Given the description of an element on the screen output the (x, y) to click on. 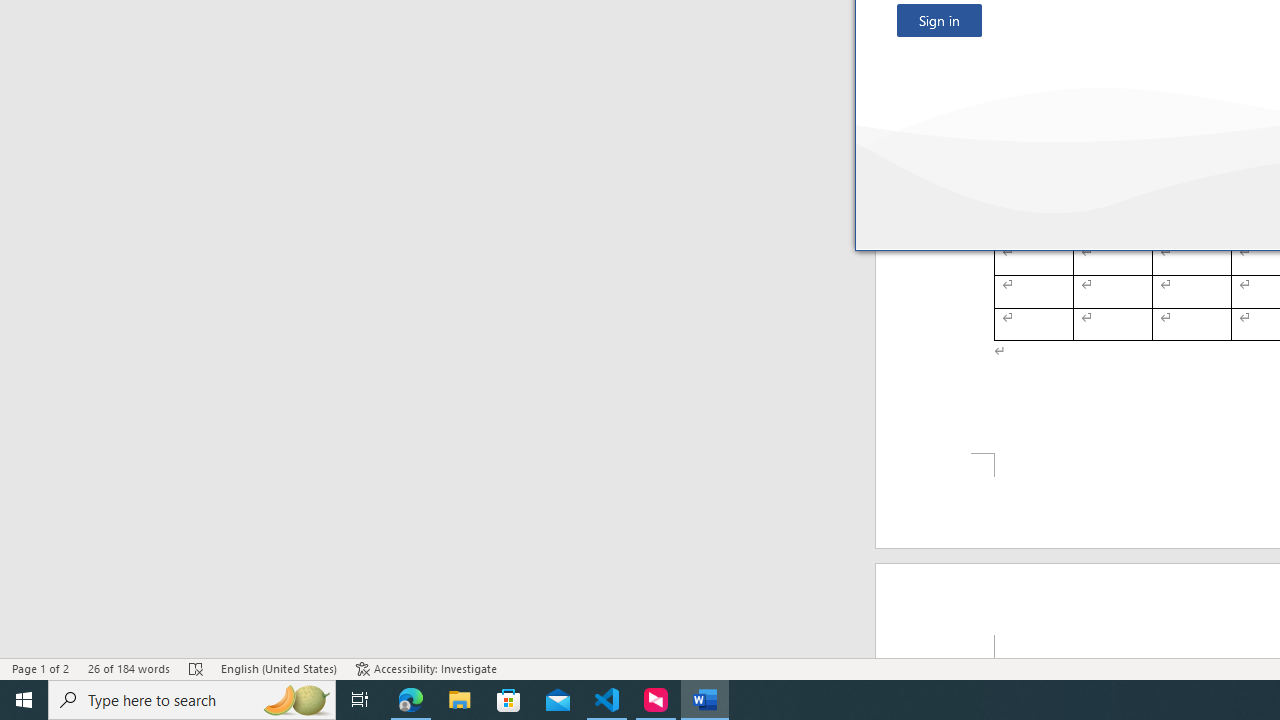
Microsoft Edge - 1 running window (411, 699)
Sign in (939, 20)
